Given the description of an element on the screen output the (x, y) to click on. 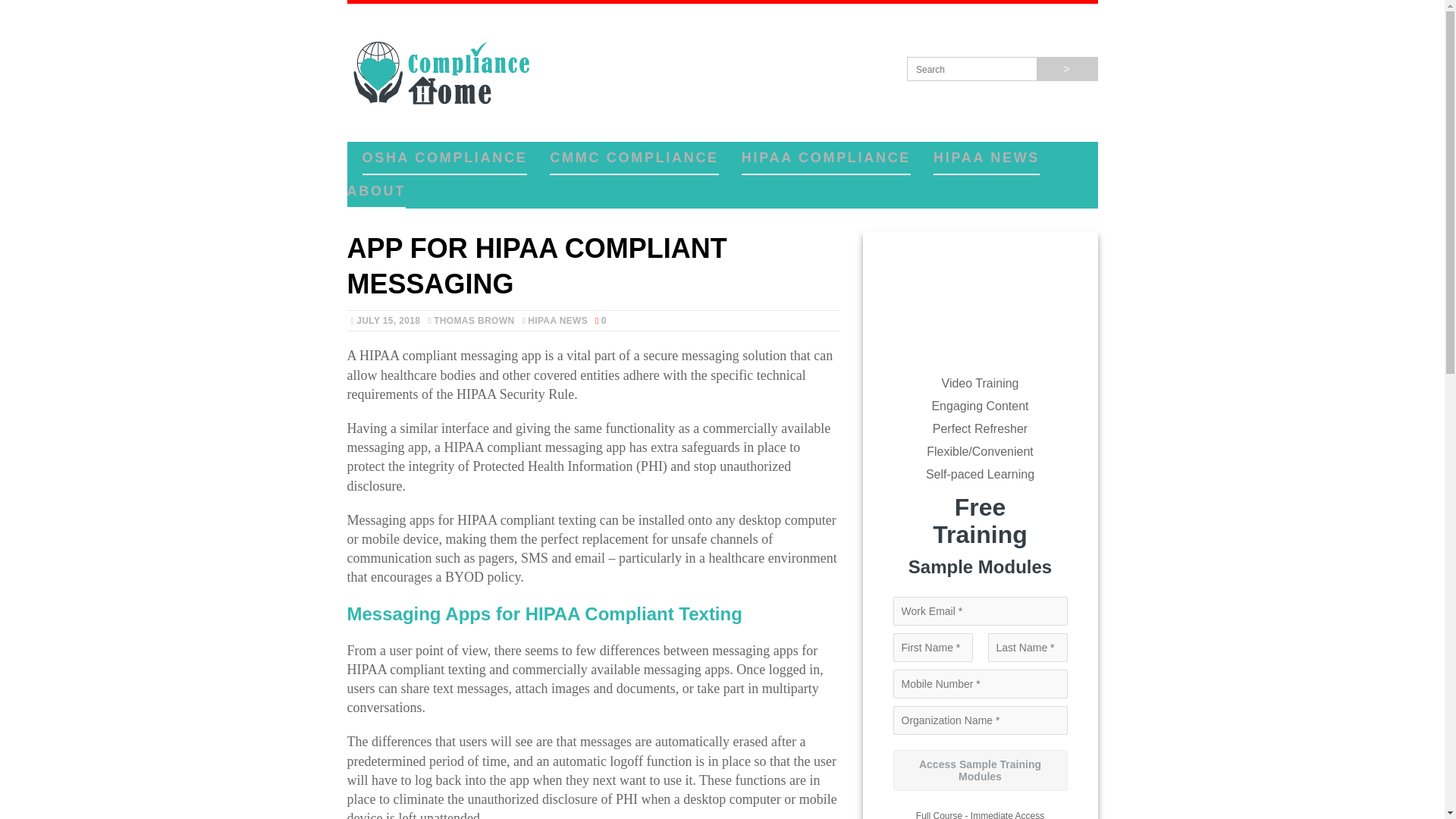
Access Sample Training Modules (980, 770)
HIPAA NEWS (557, 320)
Posts by Thomas Brown (473, 320)
CMMC COMPLIANCE (634, 158)
ABOUT (376, 191)
HIPAA COMPLIANCE (826, 158)
OSHA COMPLIANCE (444, 158)
HIPAA NEWS (986, 158)
ComplianceHome (722, 69)
THOMAS BROWN (473, 320)
